Given the description of an element on the screen output the (x, y) to click on. 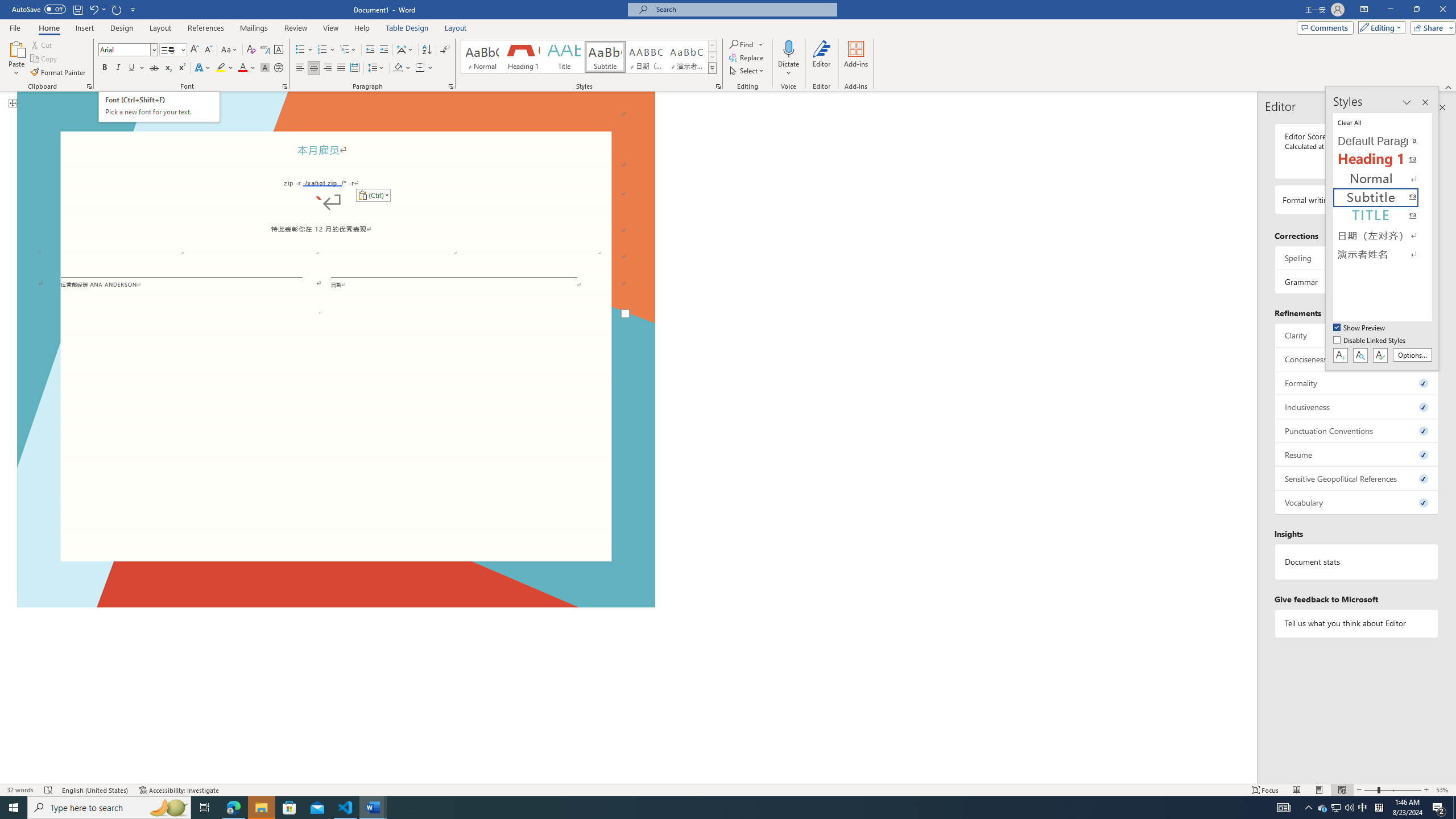
Clarity, 0 issues. Press space or enter to review items. (1356, 335)
